Given the description of an element on the screen output the (x, y) to click on. 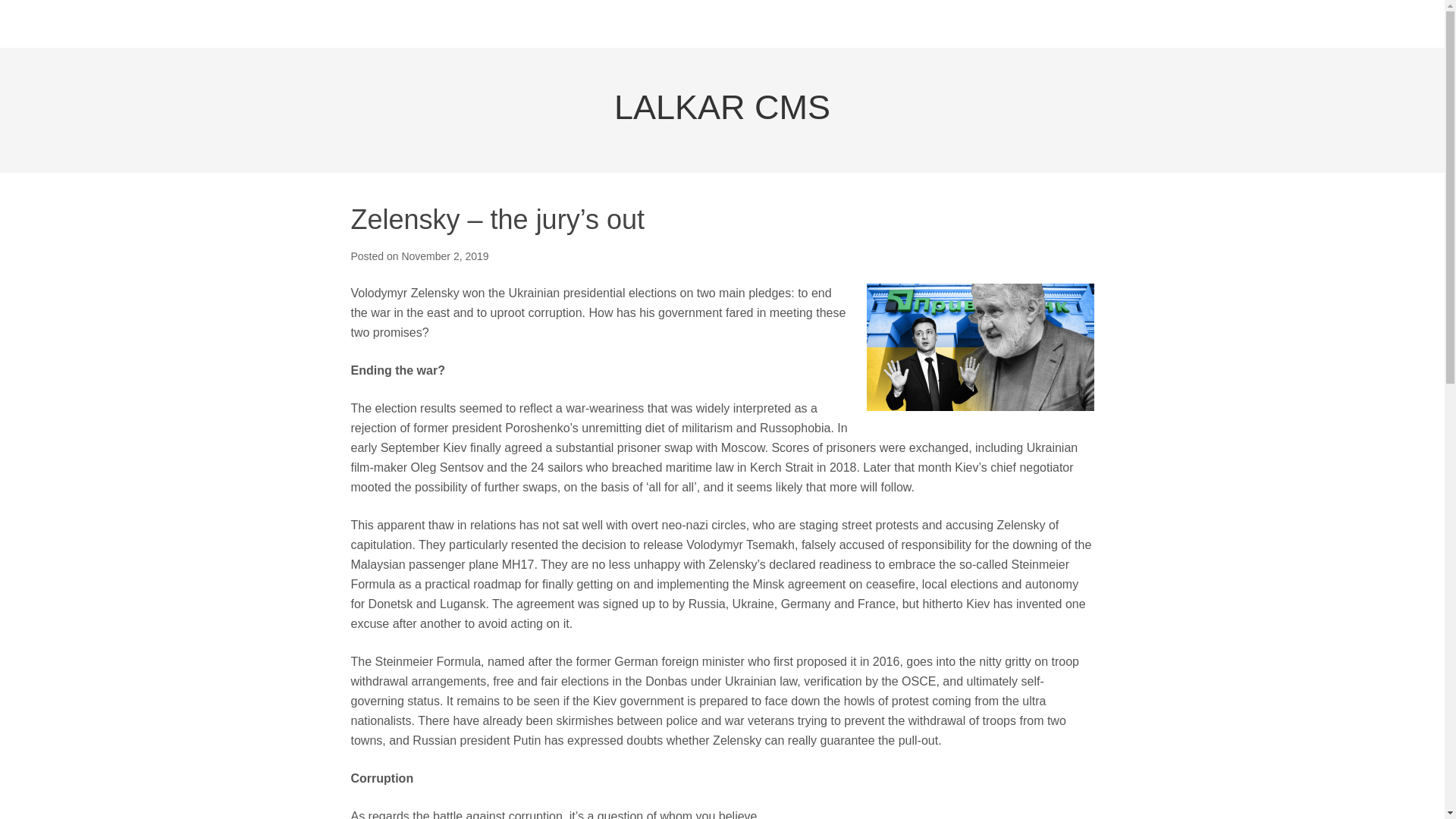
Saturday, November 2, 2019, 9:05 am (444, 256)
LALKAR CMS (721, 106)
LALKAR CMS (721, 106)
